Given the description of an element on the screen output the (x, y) to click on. 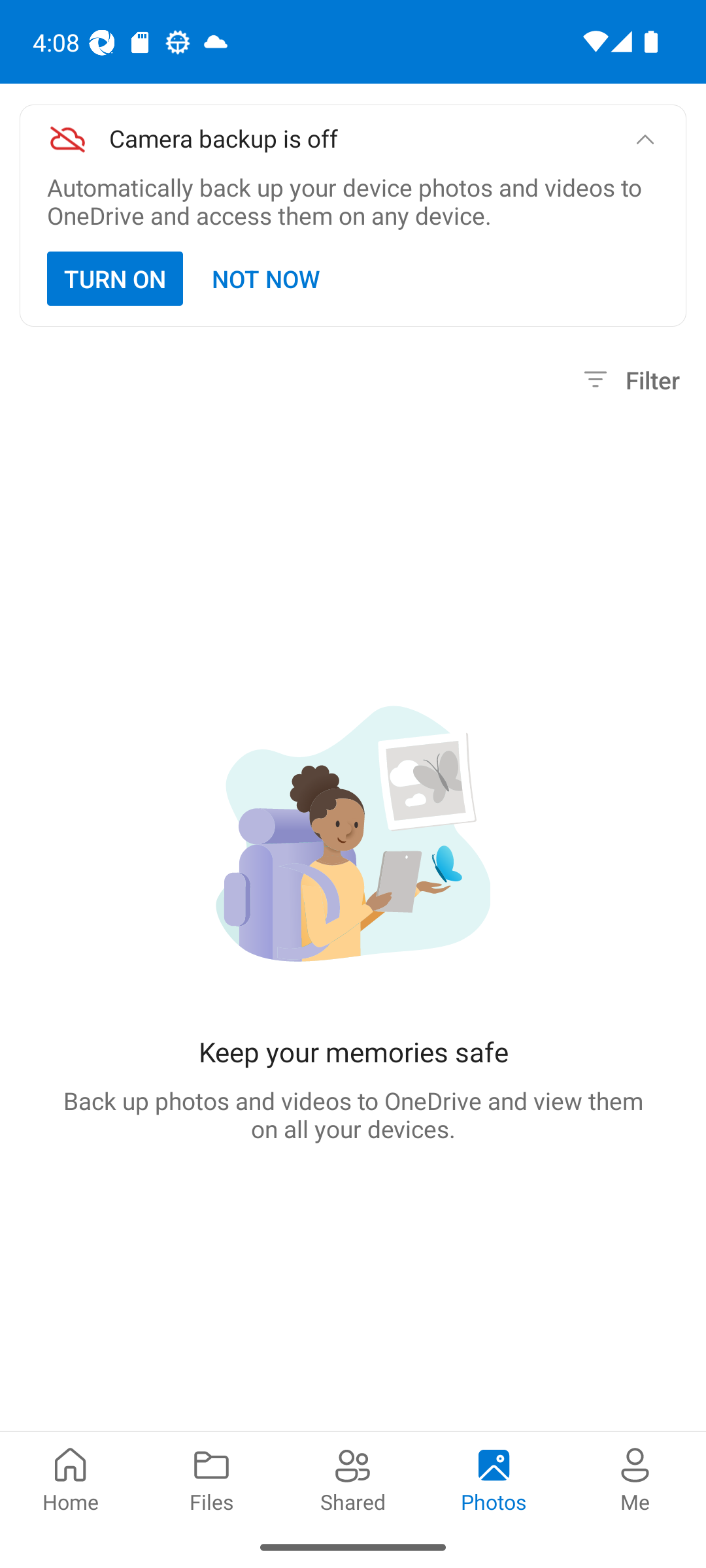
Collapse camera status banner (645, 139)
TURN ON (114, 277)
NOT NOW (266, 277)
Filter (628, 379)
Home pivot Home (70, 1478)
Files pivot Files (211, 1478)
Shared pivot Shared (352, 1478)
Me pivot Me (635, 1478)
